Given the description of an element on the screen output the (x, y) to click on. 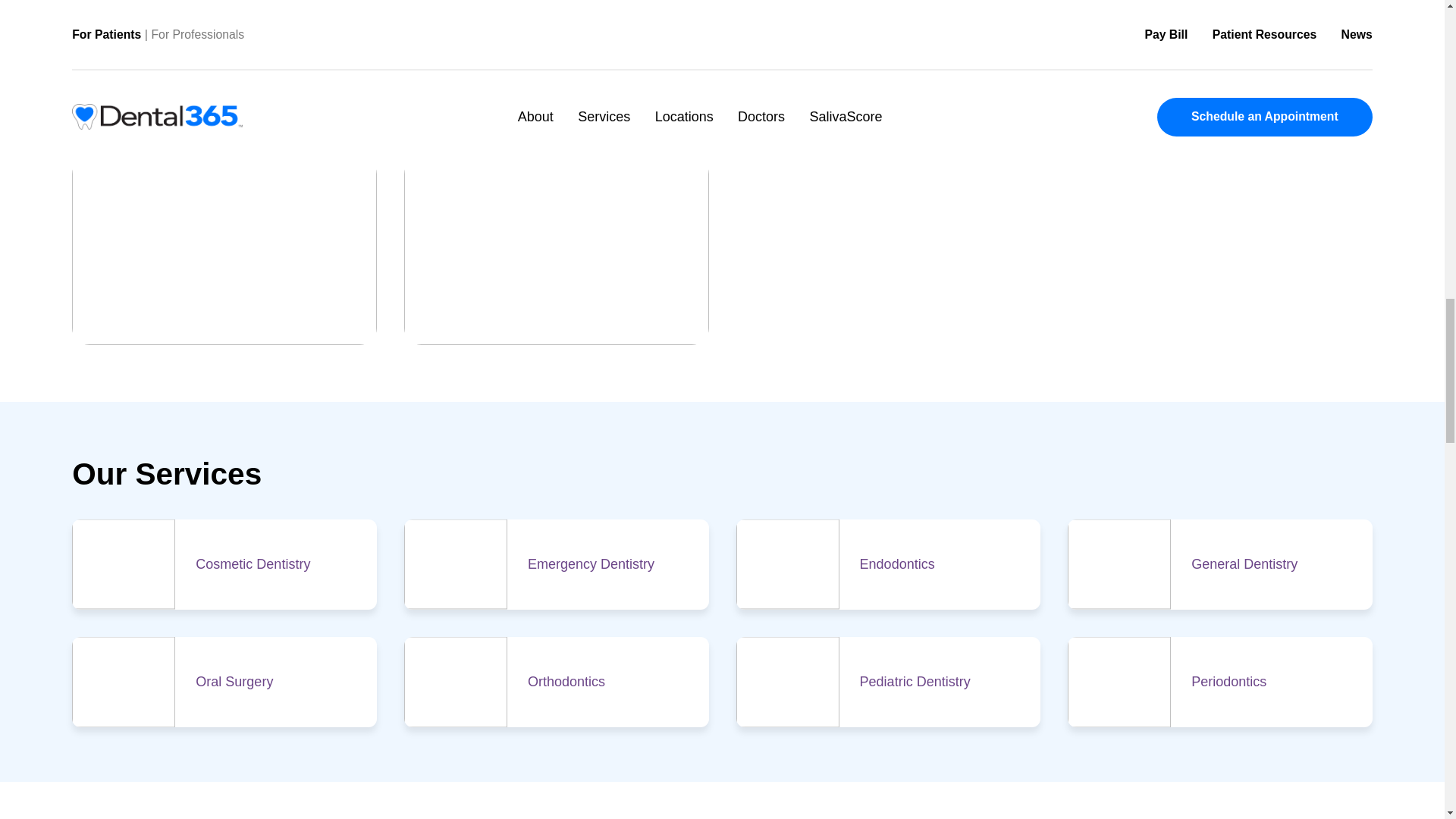
Cosmetic Dentistry (280, 808)
